Given the description of an element on the screen output the (x, y) to click on. 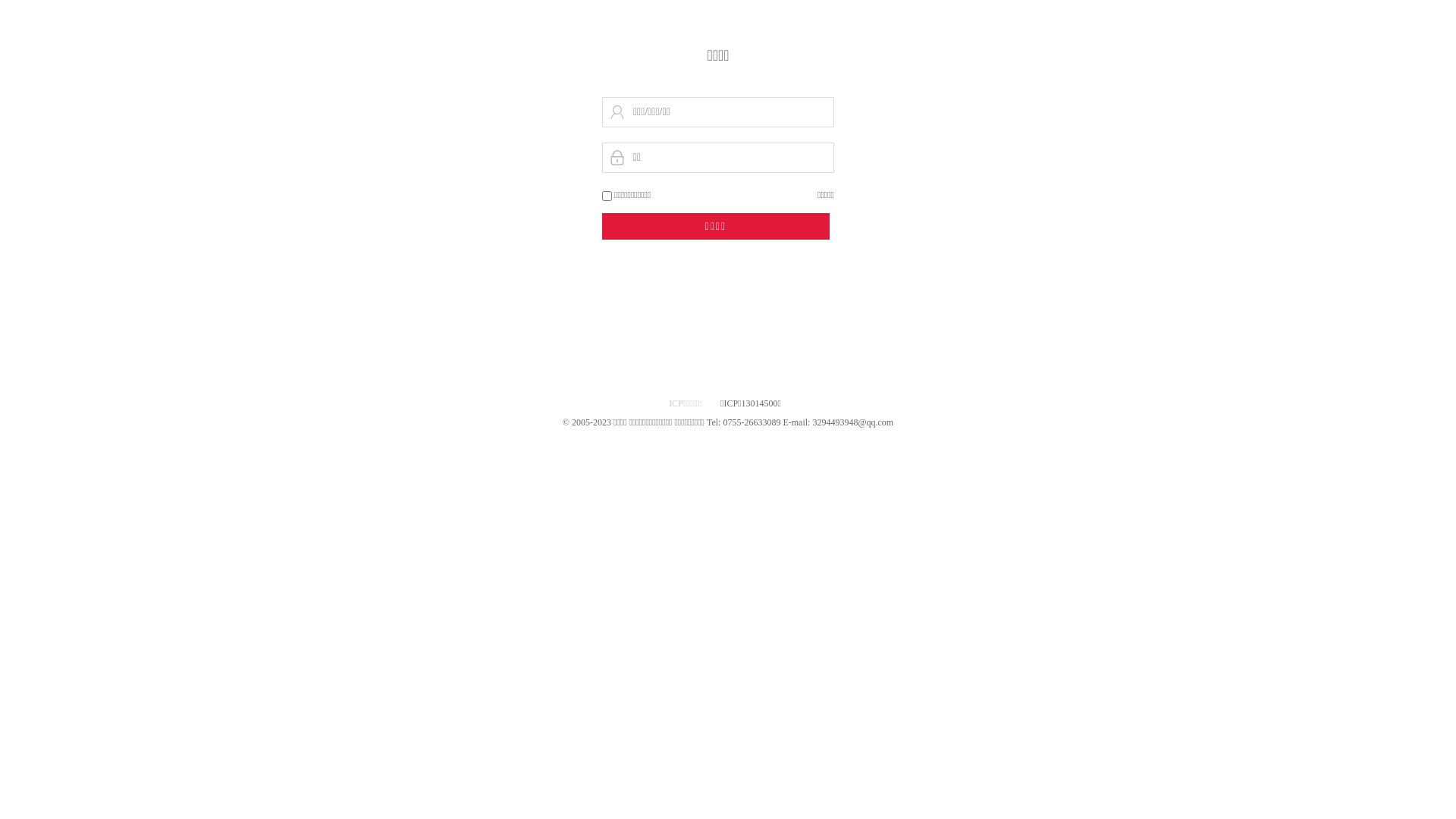
Tel: 0755-26633089 Element type: text (744, 422)
E-mail: 3294493948@qq.com Element type: text (837, 422)
